Given the description of an element on the screen output the (x, y) to click on. 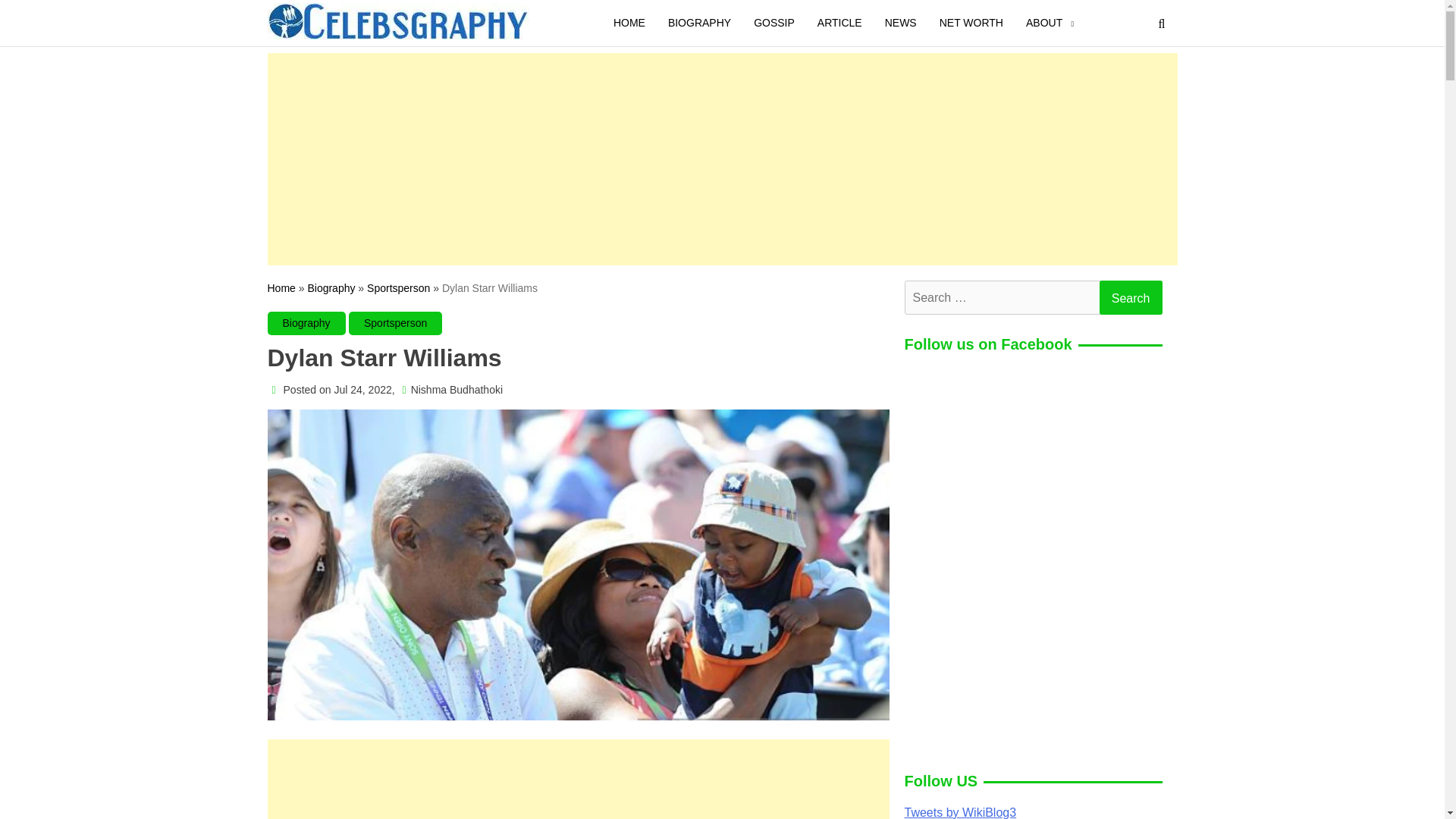
BIOGRAPHY (699, 22)
Biography (307, 322)
Search (1130, 297)
HOME (629, 22)
ABOUT (1044, 22)
GOSSIP (774, 22)
ARTICLE (839, 22)
Biography (331, 287)
Sportsperson (395, 322)
NEWS (900, 22)
Home (280, 287)
Search (1130, 297)
NET WORTH (971, 22)
Sportsperson (397, 287)
